Given the description of an element on the screen output the (x, y) to click on. 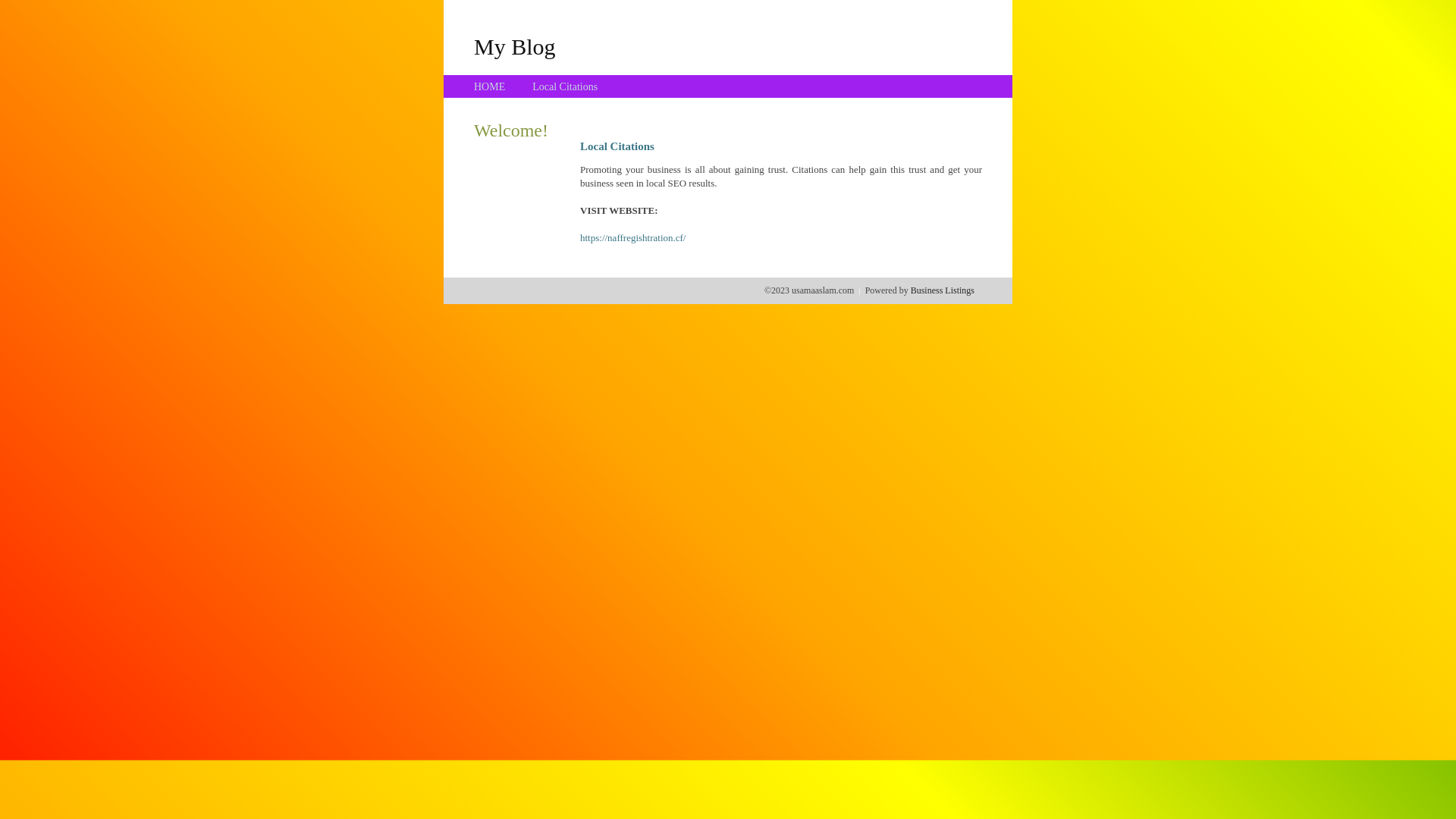
Local Citations Element type: text (564, 86)
HOME Element type: text (489, 86)
Business Listings Element type: text (942, 290)
My Blog Element type: text (514, 46)
https://naffregishtration.cf/ Element type: text (632, 237)
